Given the description of an element on the screen output the (x, y) to click on. 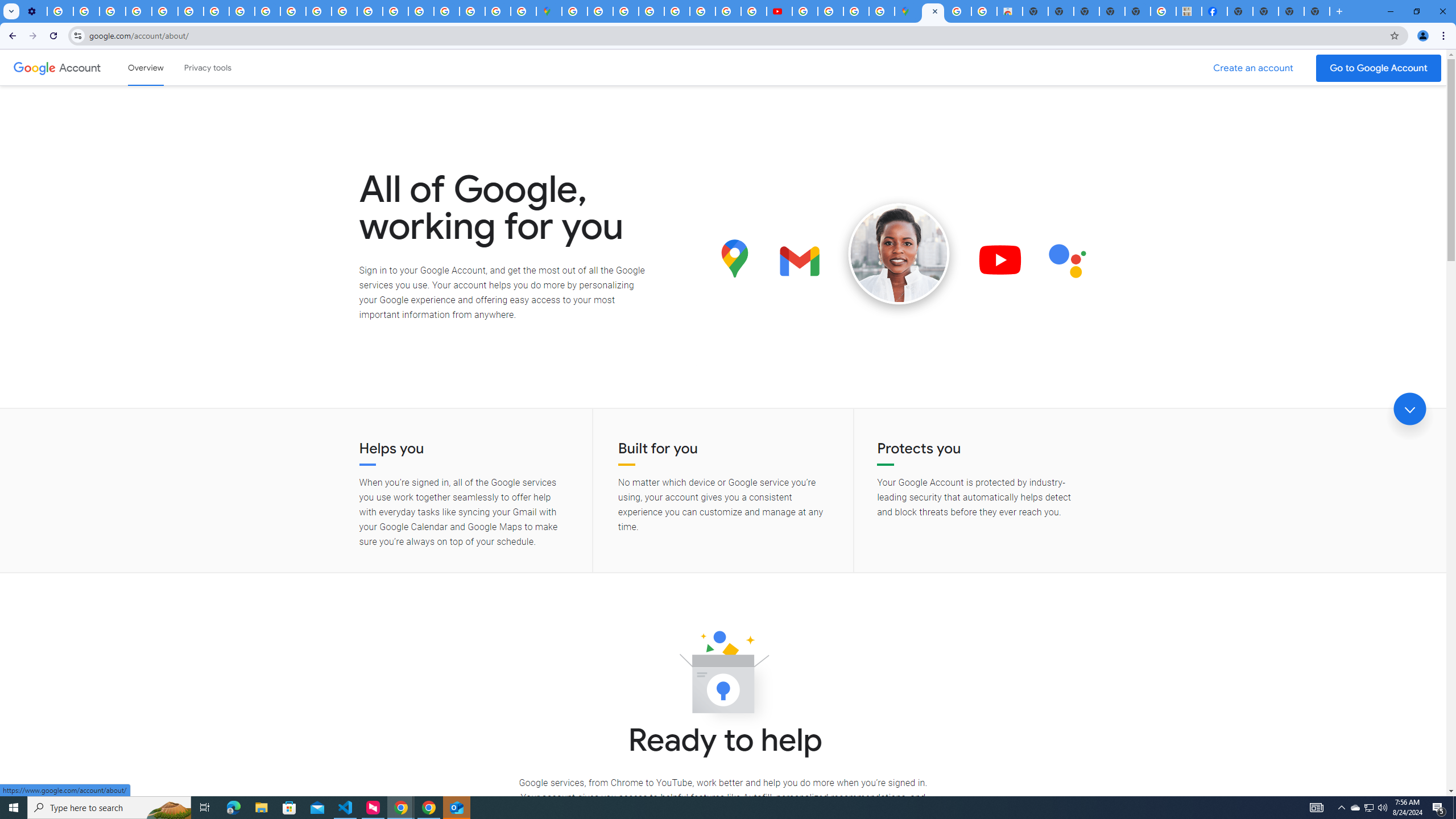
Chrome (1445, 35)
Restore (1416, 11)
Privacy Help Center - Policies Help (702, 11)
Sign in - Google Accounts (446, 11)
Bookmark this tab (1393, 35)
Forward (32, 35)
Delete photos & videos - Computer - Google Photos Help (60, 11)
Create a Google Account (1253, 67)
